Given the description of an element on the screen output the (x, y) to click on. 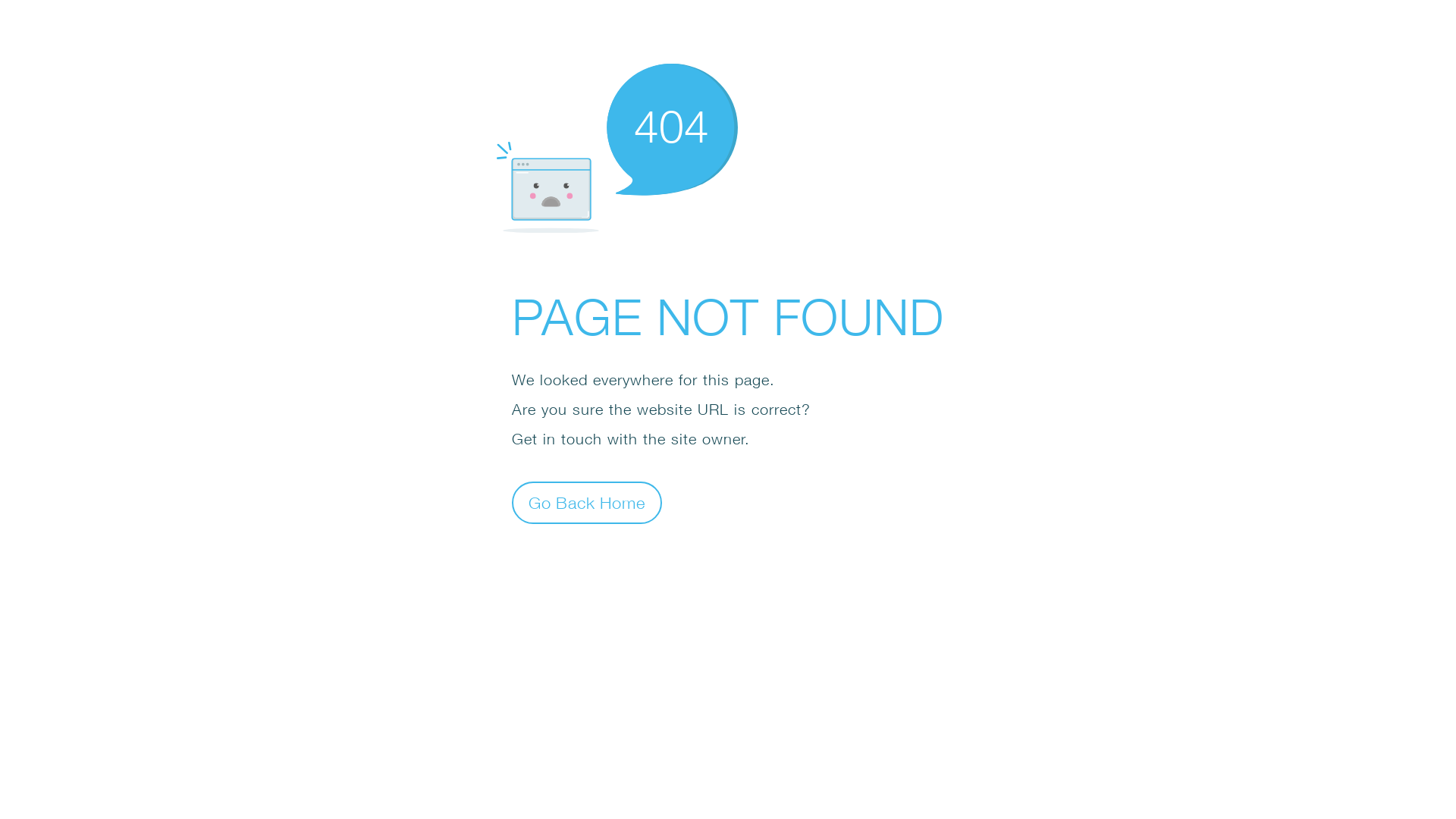
Go Back Home Element type: text (586, 502)
